Given the description of an element on the screen output the (x, y) to click on. 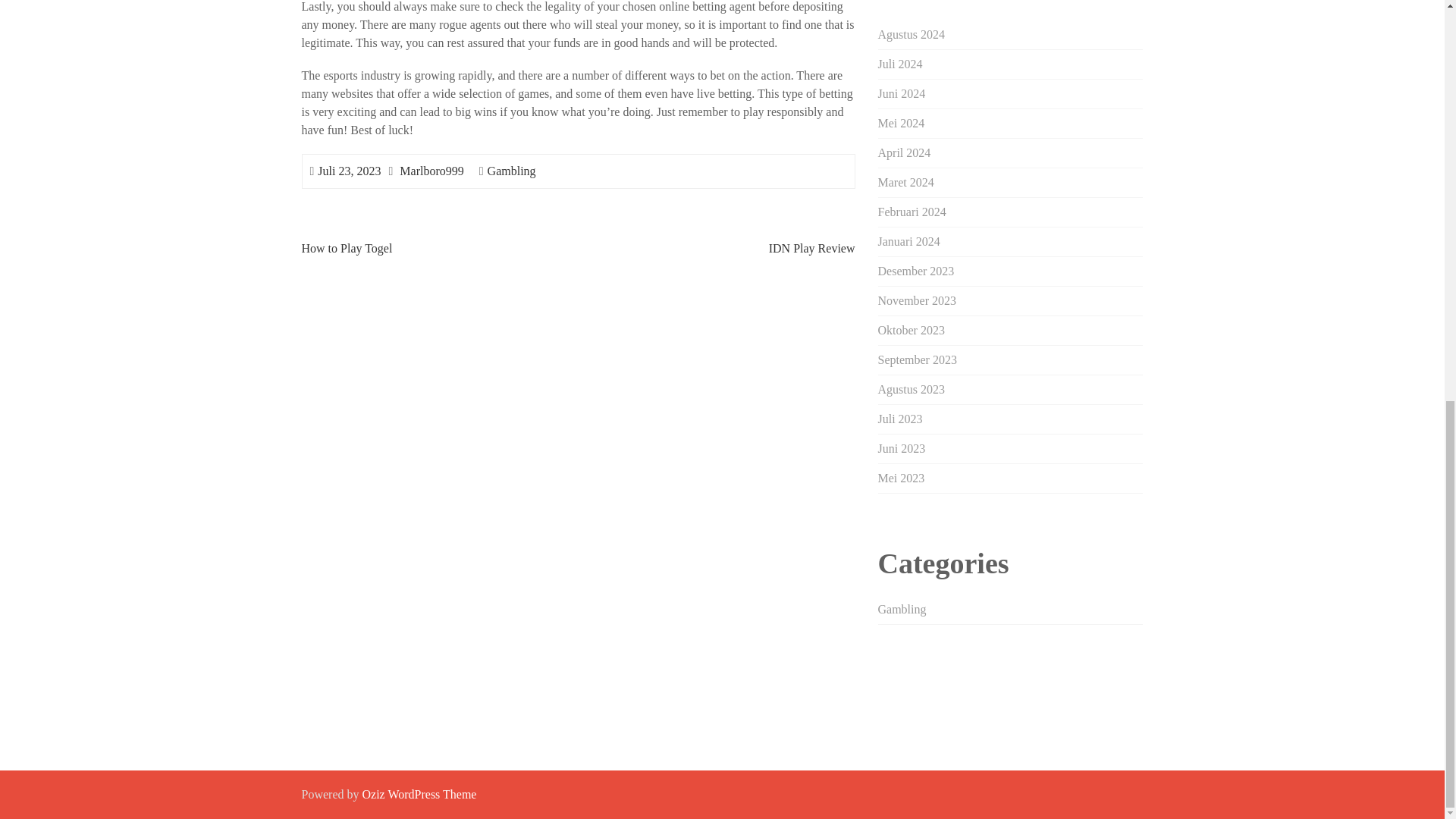
Januari 2024 (908, 241)
Gambling (901, 608)
Juni 2023 (901, 448)
November 2023 (916, 300)
Juli 2023 (900, 418)
Maret 2024 (905, 182)
Oziz WordPress Theme (418, 793)
IDN Play Review (812, 247)
How to Play Togel (347, 247)
Mei 2023 (900, 477)
